Given the description of an element on the screen output the (x, y) to click on. 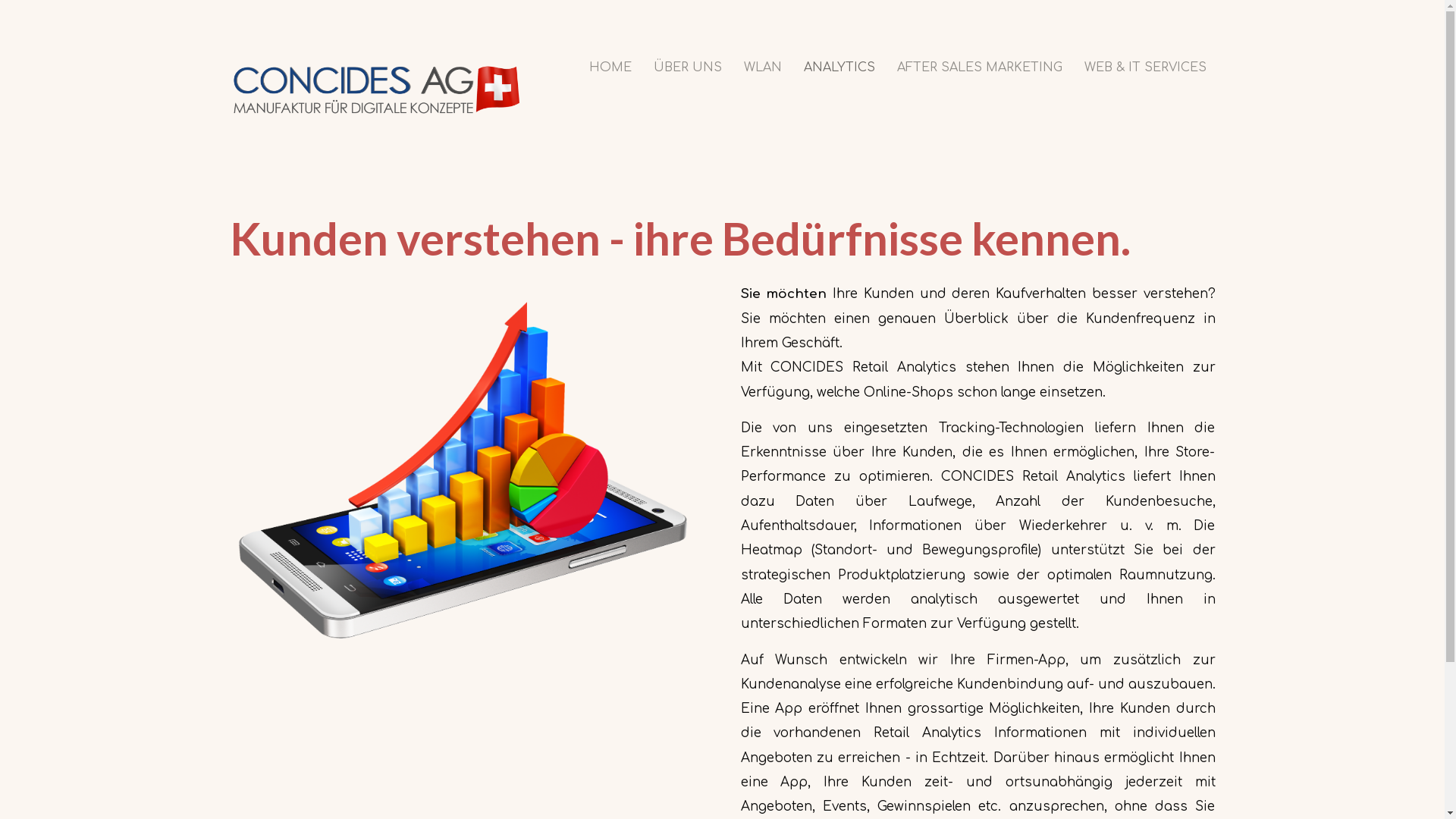
WLAN Element type: text (762, 67)
HOME Element type: text (609, 67)
ANALYTICS Element type: text (839, 67)
AFTER SALES MARKETING Element type: text (978, 67)
WEB & IT SERVICES Element type: text (1145, 67)
